Given the description of an element on the screen output the (x, y) to click on. 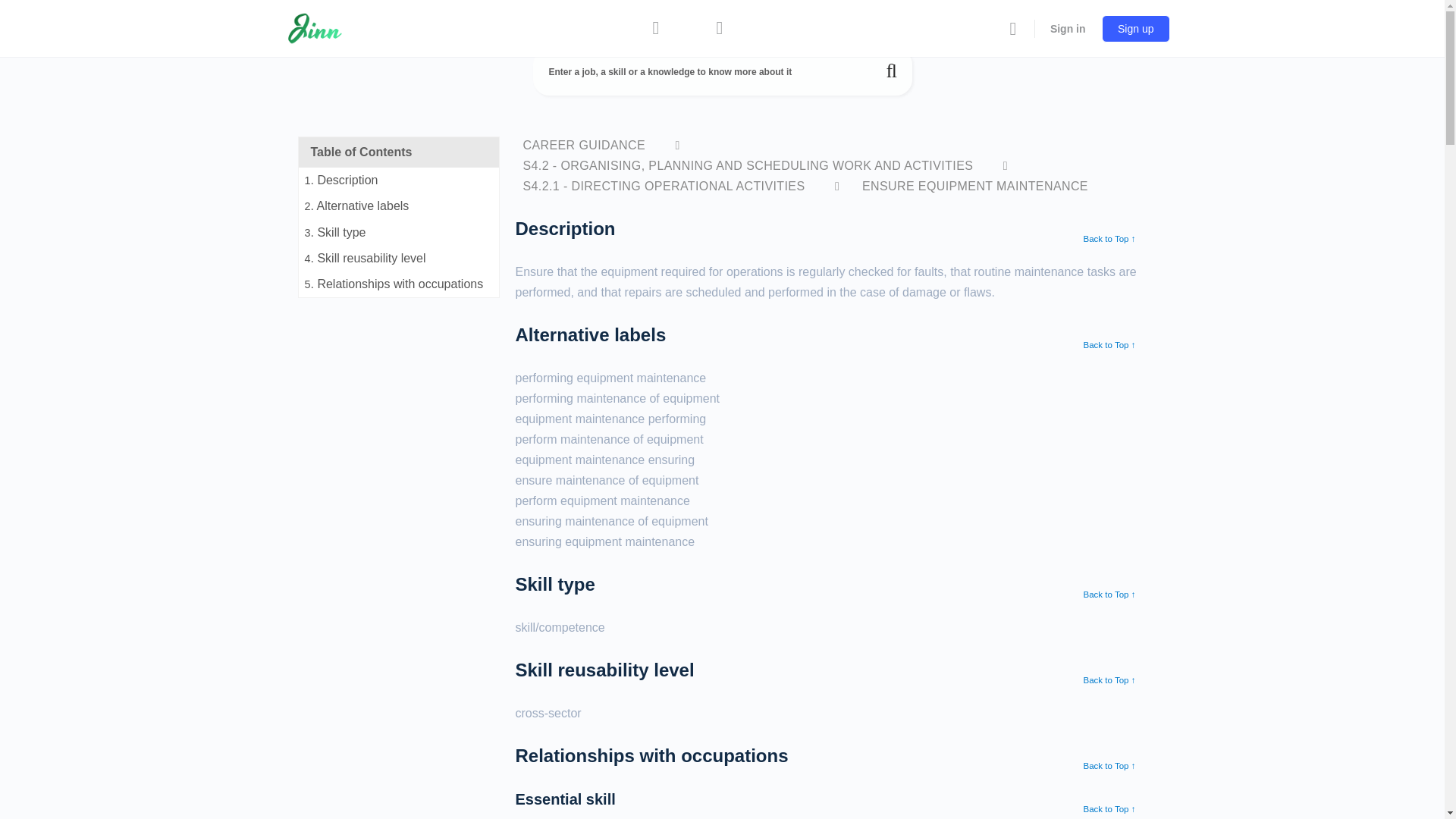
Submit (891, 71)
4. Skill reusability level (398, 258)
2. Alternative labels (398, 206)
2. Alternative labels (398, 206)
1. Description (398, 180)
5. Relationships with occupations (398, 284)
3. Skill type (398, 232)
Sign in (1067, 27)
Sign up (1135, 28)
1. Description (398, 180)
